Given the description of an element on the screen output the (x, y) to click on. 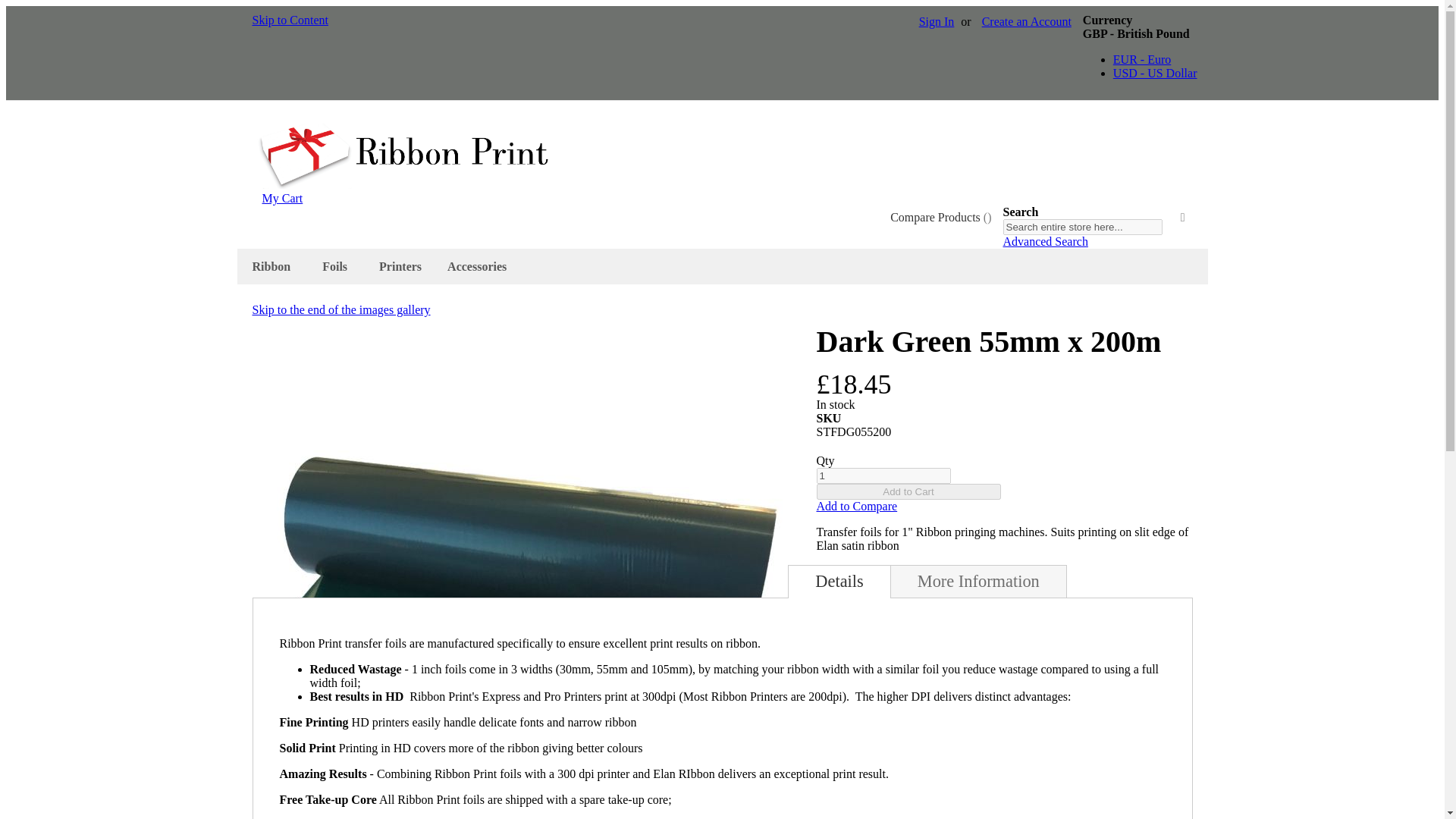
Compare Products (940, 216)
Sign In (936, 21)
ribbon print logo (402, 156)
Compare Products (940, 216)
Skip to Content (289, 19)
Qty (882, 475)
Search (1182, 217)
Availability (1003, 404)
ribbon print logo (402, 184)
Accessories (479, 266)
USD - US Dollar (1154, 72)
EUR - Euro (1141, 59)
Search (1182, 217)
Add to Cart (907, 491)
Foils (337, 266)
